Given the description of an element on the screen output the (x, y) to click on. 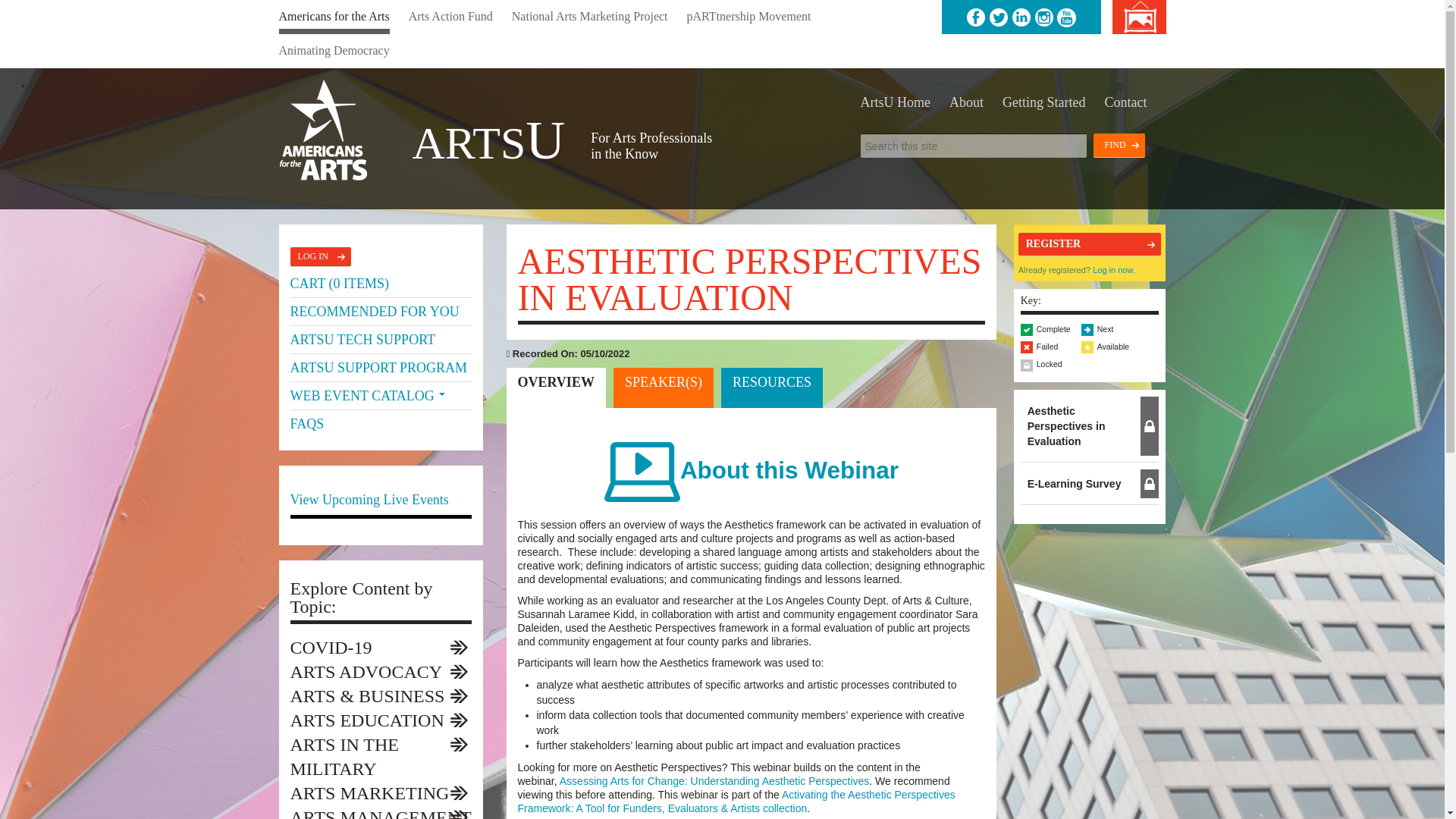
pARTtnership Movement (748, 17)
Twitter (998, 17)
Animating Democracy (334, 50)
Getting Started (1043, 102)
YouTube (1067, 17)
LinkedIn (1020, 17)
About (966, 102)
Find (1118, 145)
Arts Action Fund (451, 17)
